Given the description of an element on the screen output the (x, y) to click on. 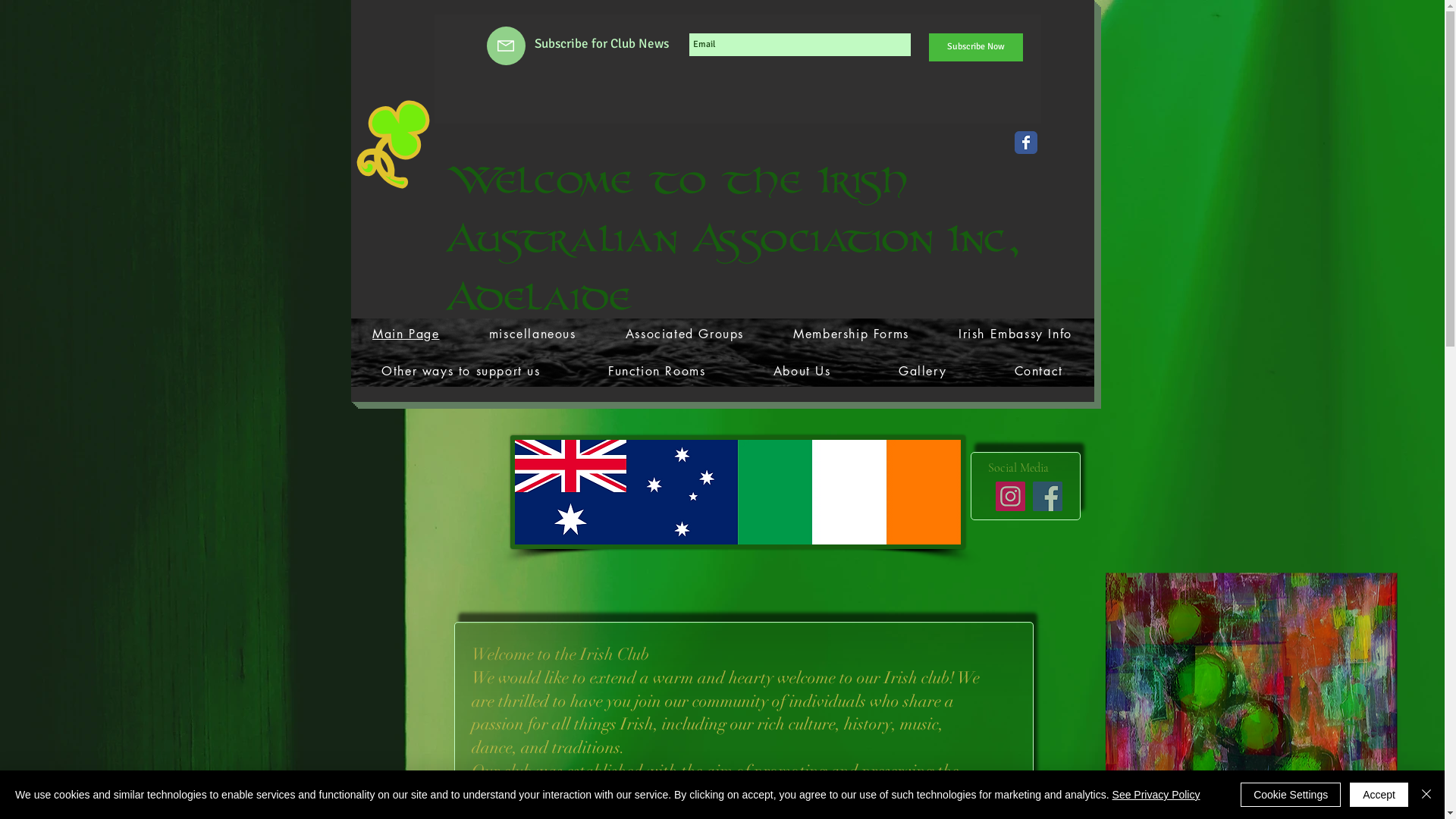
Contact Element type: text (1038, 370)
Membership Forms Element type: text (851, 333)
Accept Element type: text (1378, 794)
Main Page Element type: text (405, 333)
Other ways to support us Element type: text (460, 370)
Subscribe Now Element type: text (975, 47)
Function Rooms Element type: text (656, 370)
Cookie Settings Element type: text (1290, 794)
See Privacy Policy Element type: text (1156, 794)
Irish Embassy Info Element type: text (1014, 333)
